Given the description of an element on the screen output the (x, y) to click on. 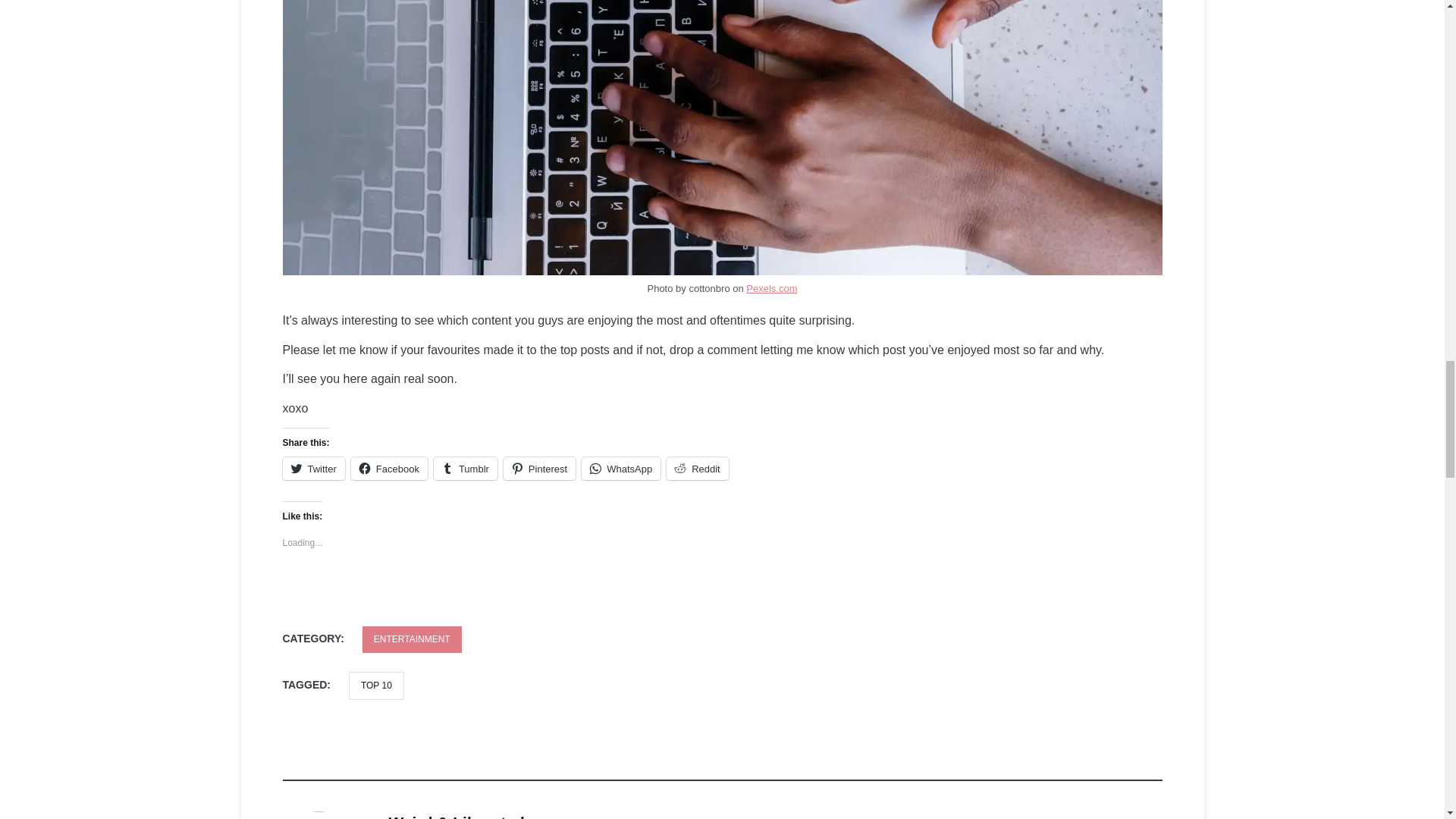
Click to share on Twitter (312, 468)
Click to share on Tumblr (465, 468)
Click to share on Pinterest (539, 468)
Click to share on Reddit (697, 468)
Click to share on WhatsApp (620, 468)
Click to share on Facebook (389, 468)
